Given the description of an element on the screen output the (x, y) to click on. 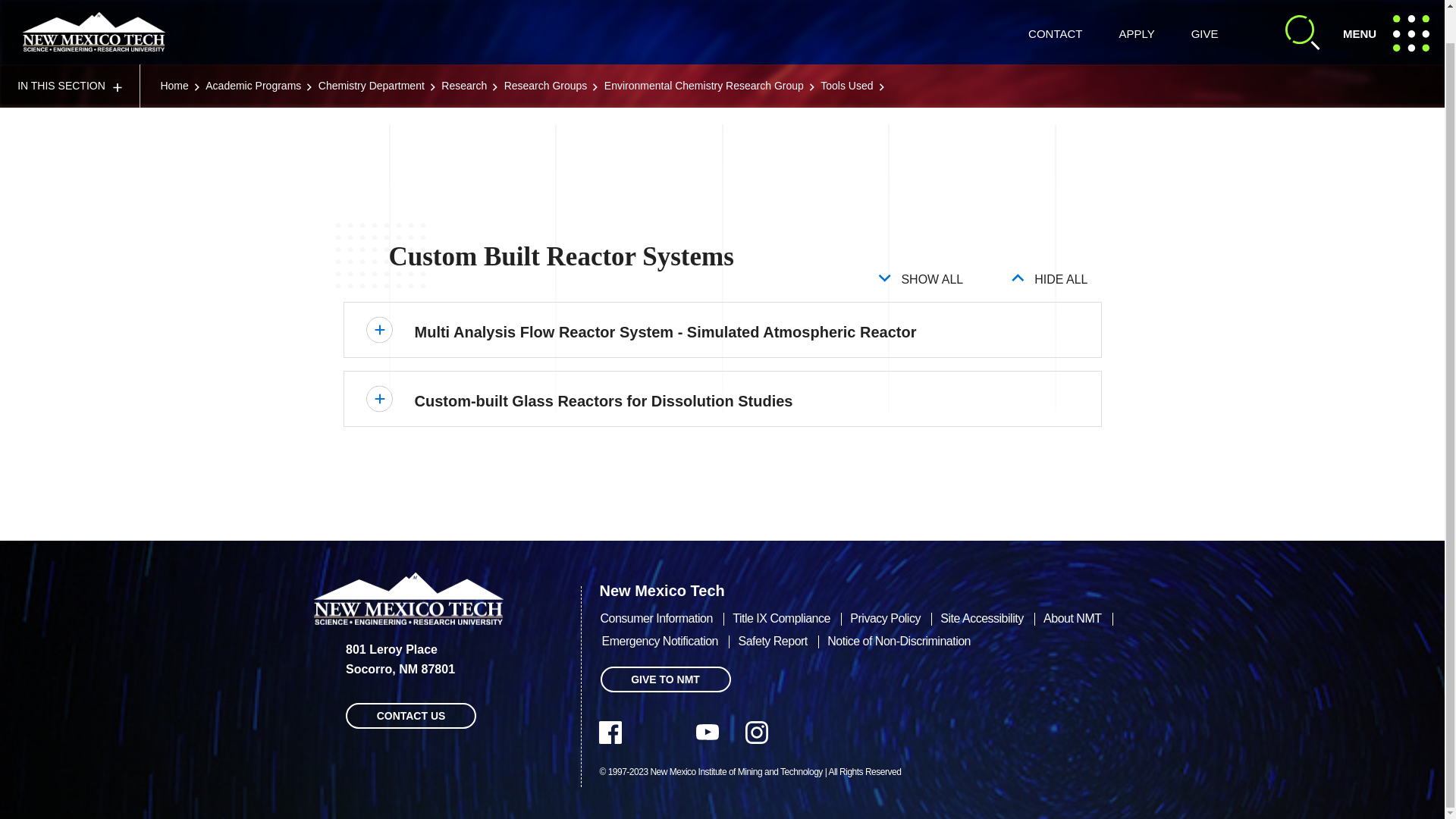
Chemistry Department (1391, 15)
APPLY (371, 51)
Research Groups (1135, 7)
GIVE (545, 51)
expand search (1204, 7)
Academic Programs (1303, 15)
New Mexico Tech - Home (253, 51)
CONTACT (94, 15)
Home (1054, 7)
Environmental Chemistry Research Group (173, 51)
Research (703, 51)
IN THIS SECTION (463, 51)
